Given the description of an element on the screen output the (x, y) to click on. 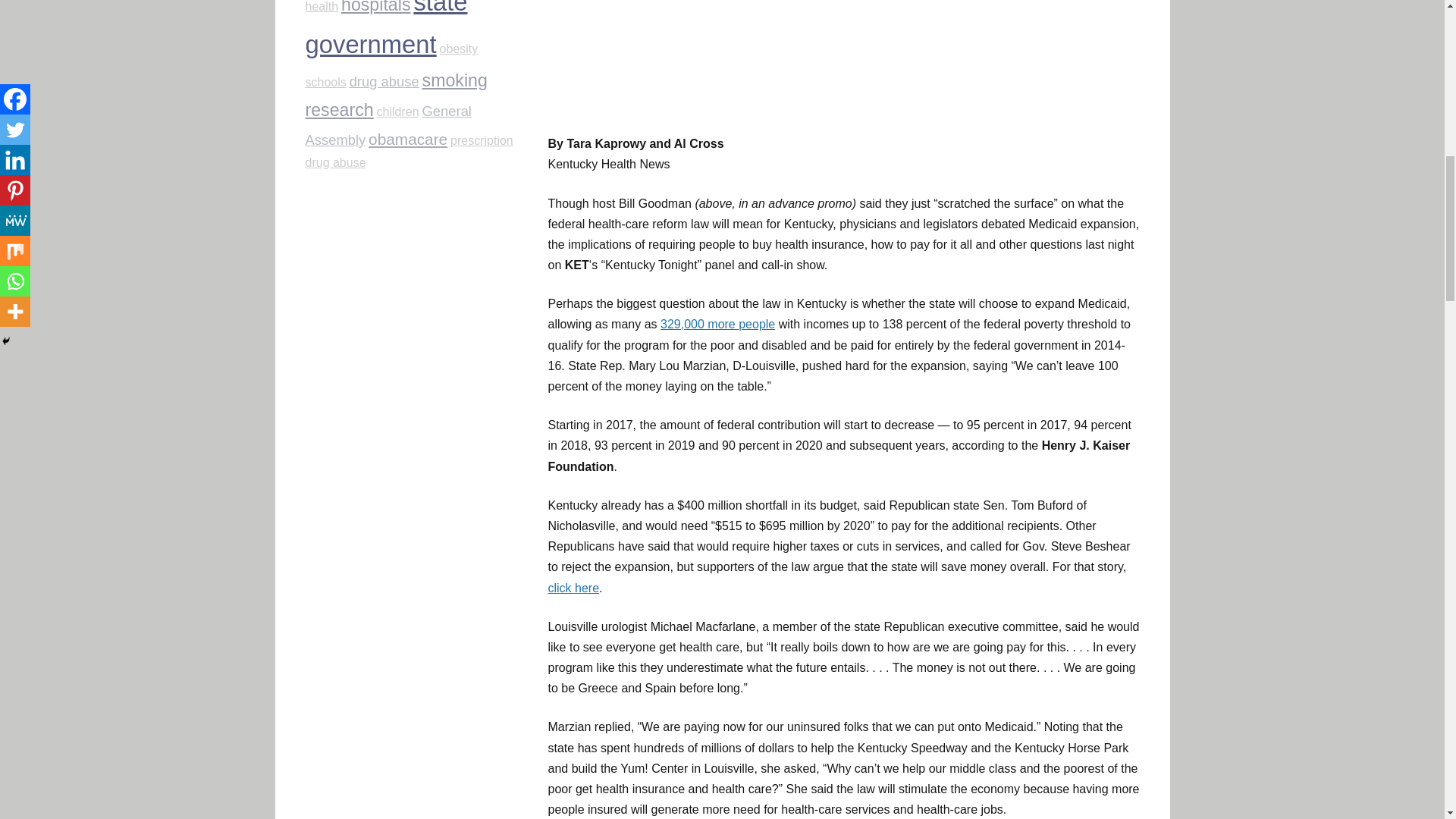
click here (572, 587)
329,000 more people (717, 323)
